Given the description of an element on the screen output the (x, y) to click on. 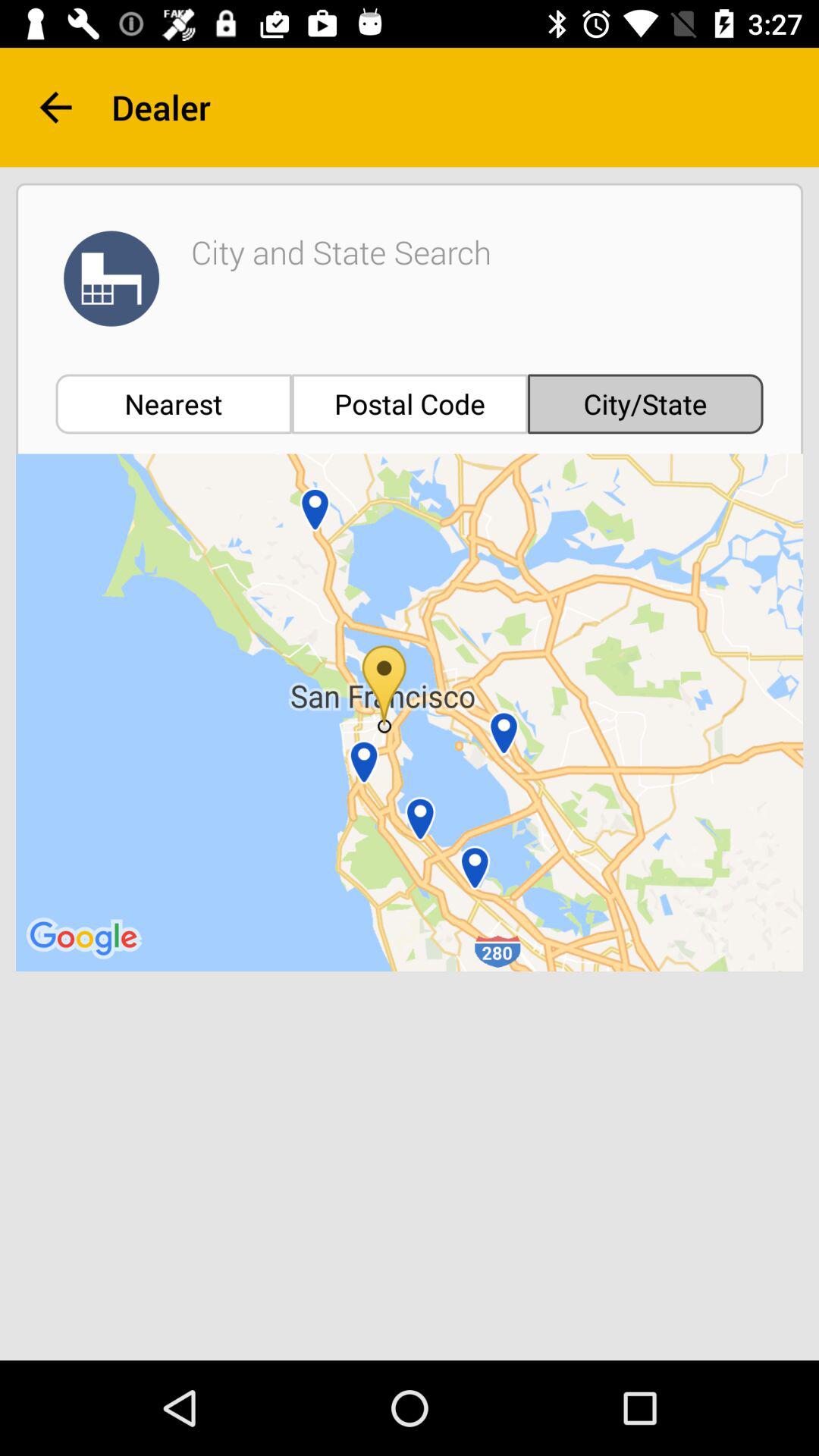
launch the item next to the postal code icon (173, 403)
